Given the description of an element on the screen output the (x, y) to click on. 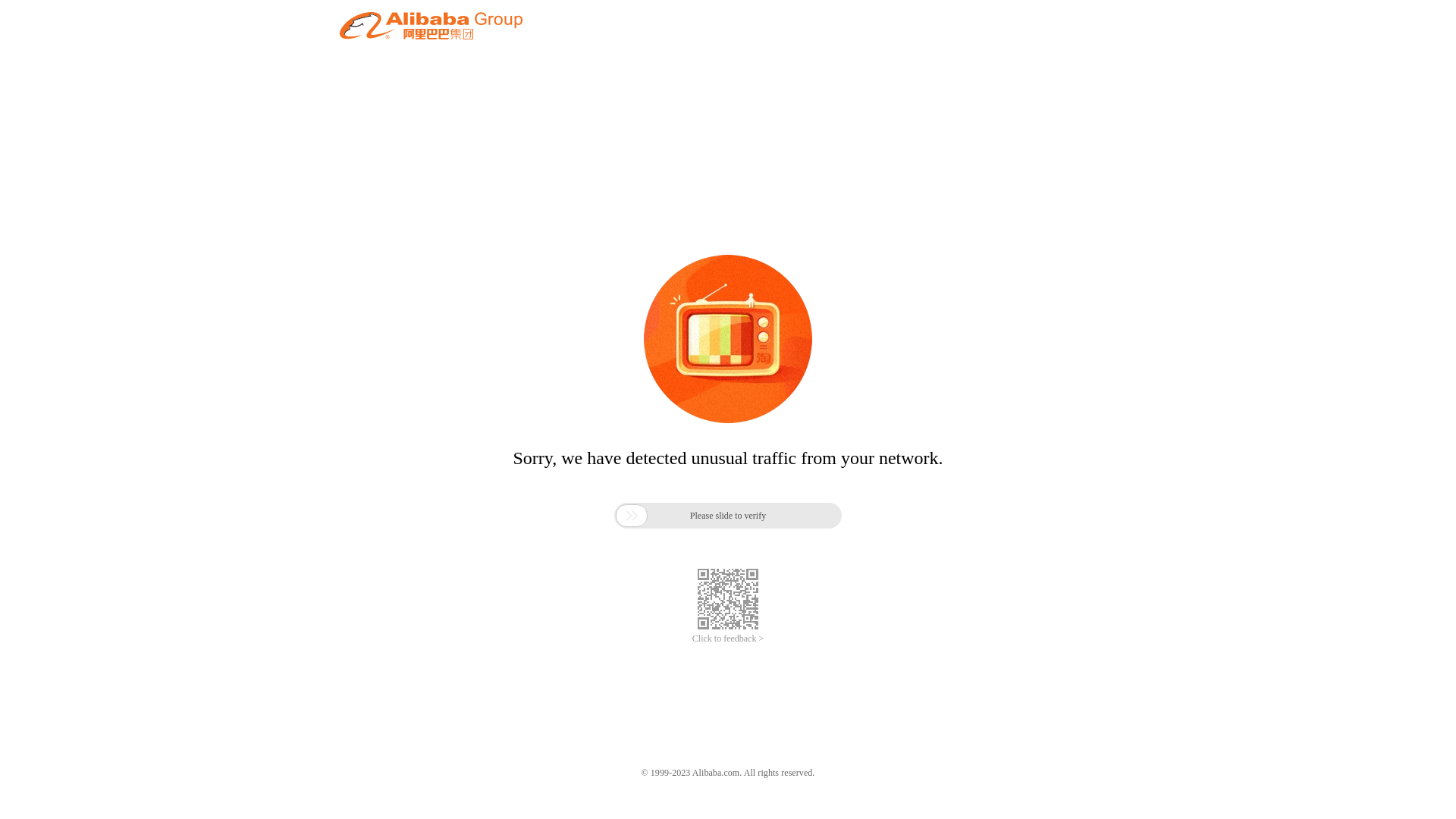
Click to feedback > Element type: text (727, 638)
